Given the description of an element on the screen output the (x, y) to click on. 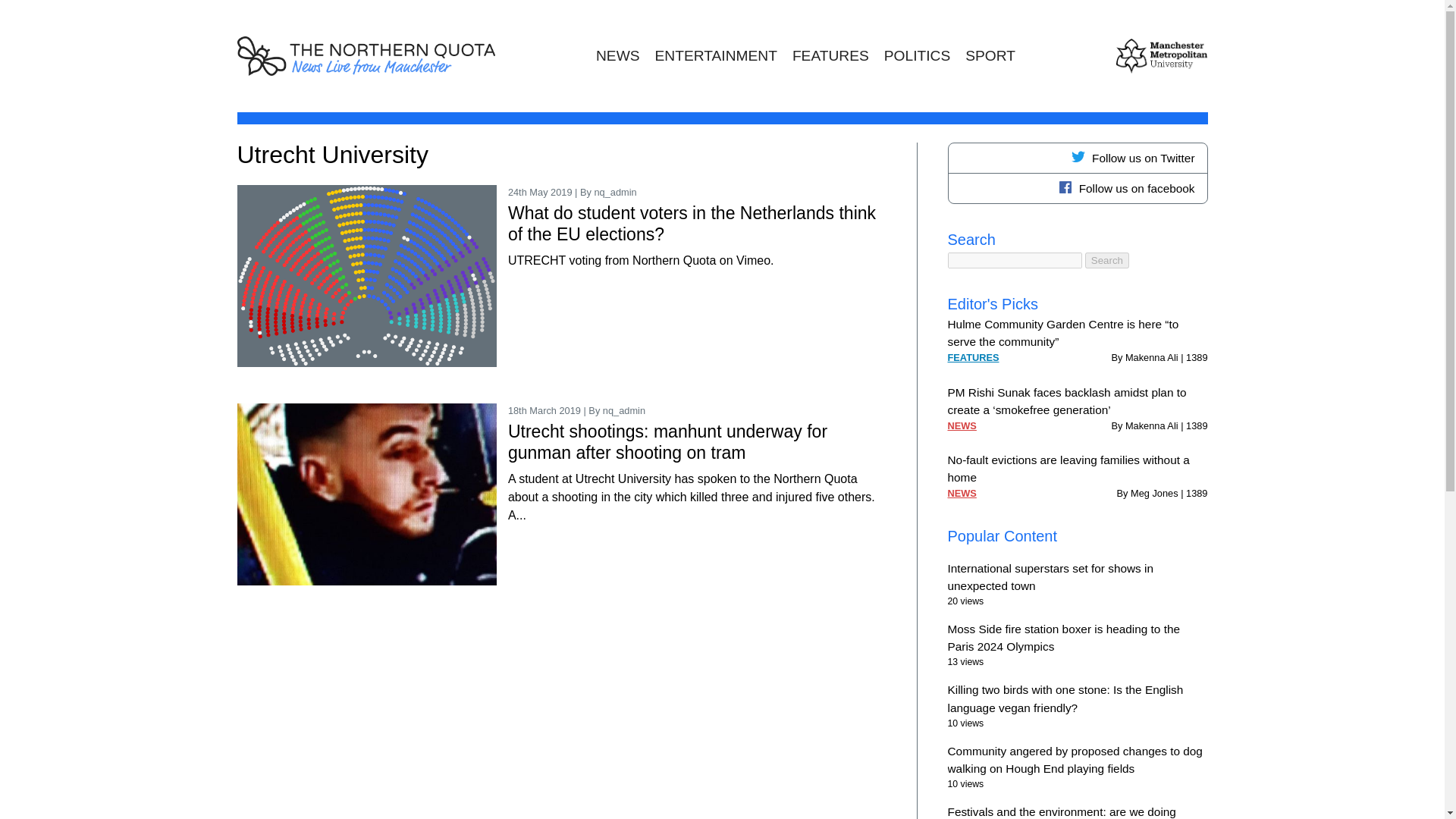
POLITICS (916, 55)
FEATURES (830, 55)
NEWS (961, 493)
Follow us on facebook (1077, 188)
No-fault evictions are leaving families without a home (1068, 468)
FEATURES (972, 357)
Festivals and the environment: are we doing enough? (1061, 812)
Search (1106, 260)
Search (1106, 260)
NEWS (961, 425)
